Given the description of an element on the screen output the (x, y) to click on. 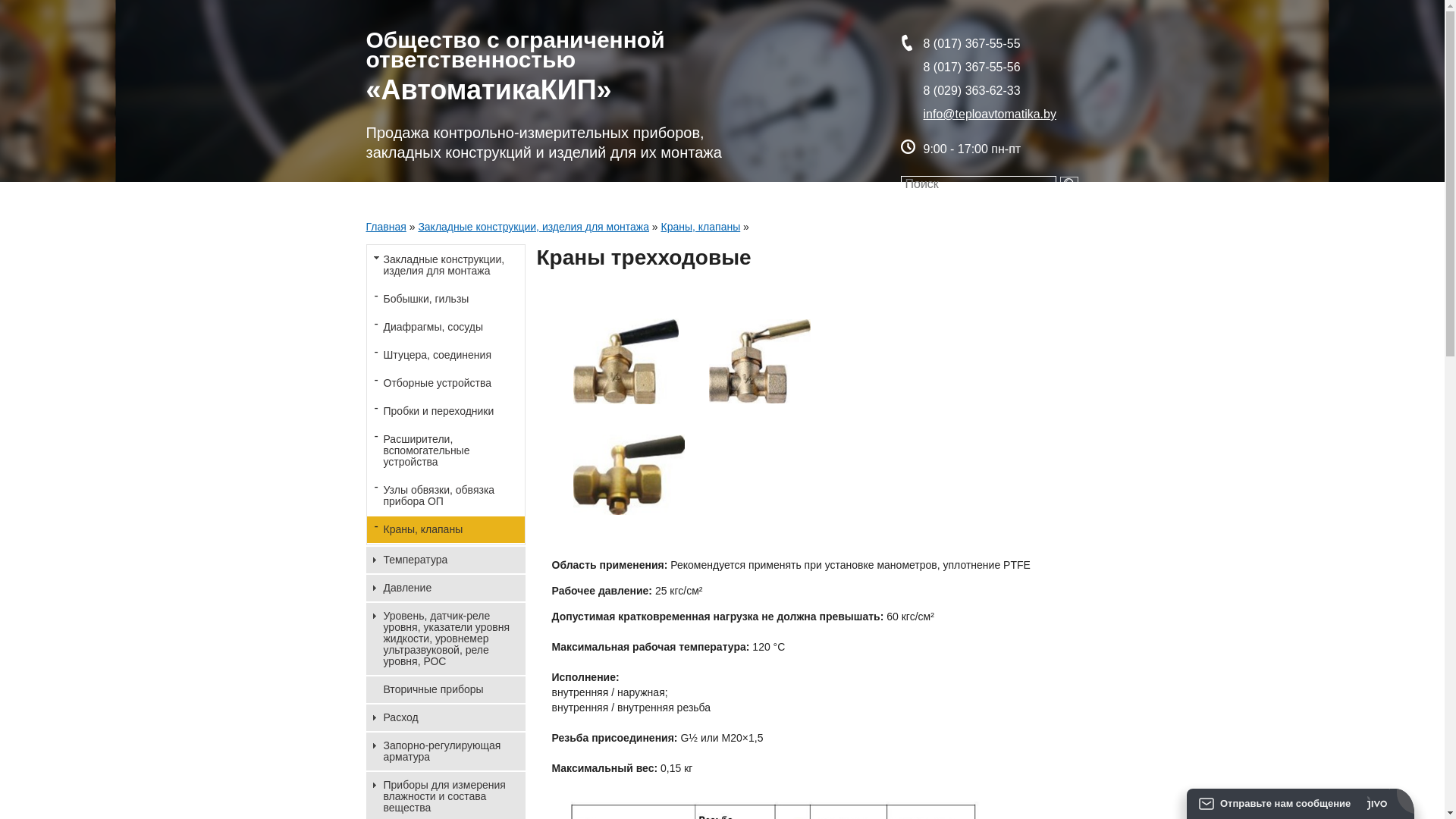
info@teploavtomatika.by Element type: text (989, 113)
